Given the description of an element on the screen output the (x, y) to click on. 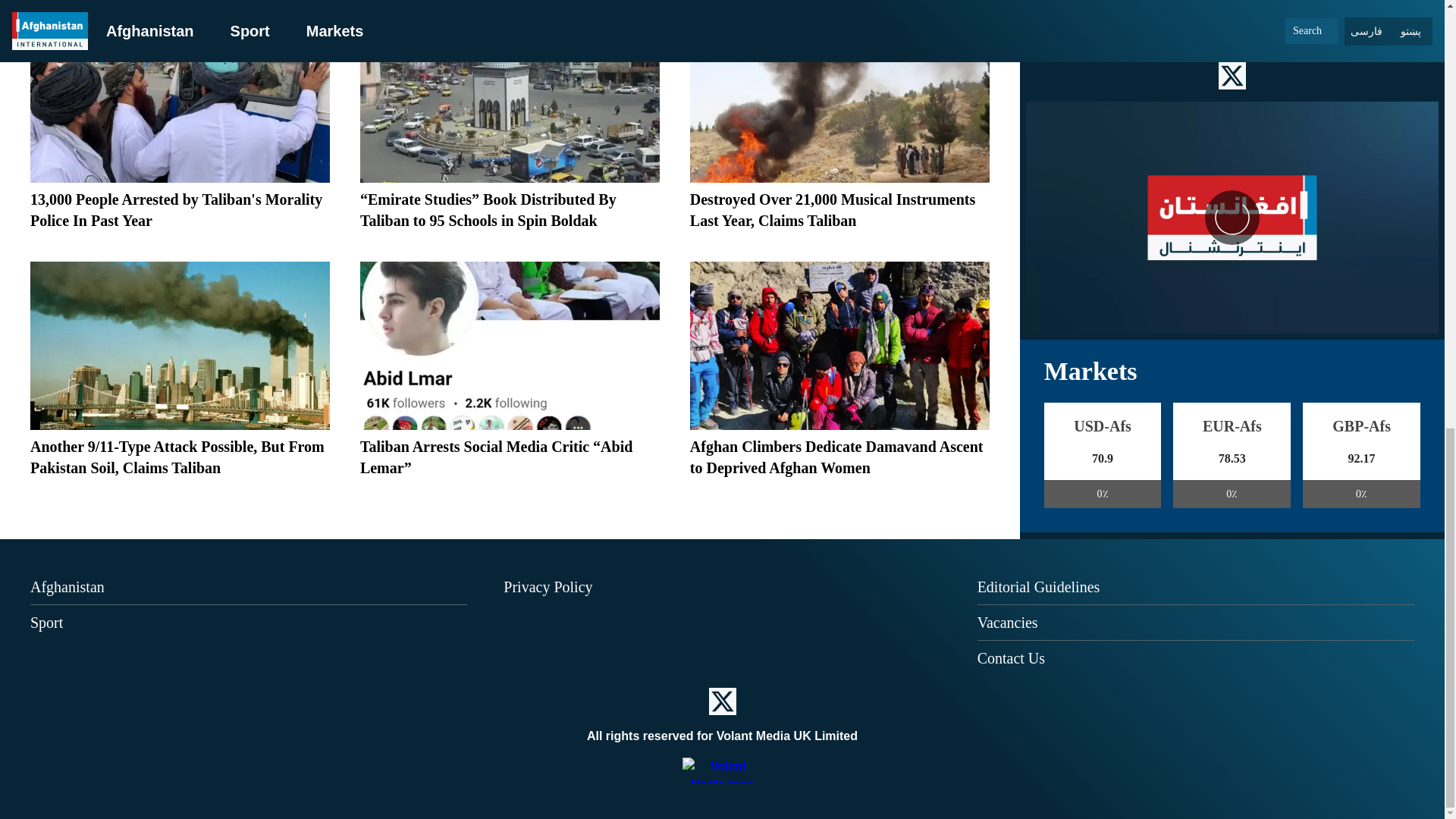
Contact Us (1010, 658)
Privacy Policy (547, 586)
Afghanistan (67, 586)
Vacancies (1007, 622)
Sport (46, 622)
Editorial Guidelines (1038, 586)
